Given the description of an element on the screen output the (x, y) to click on. 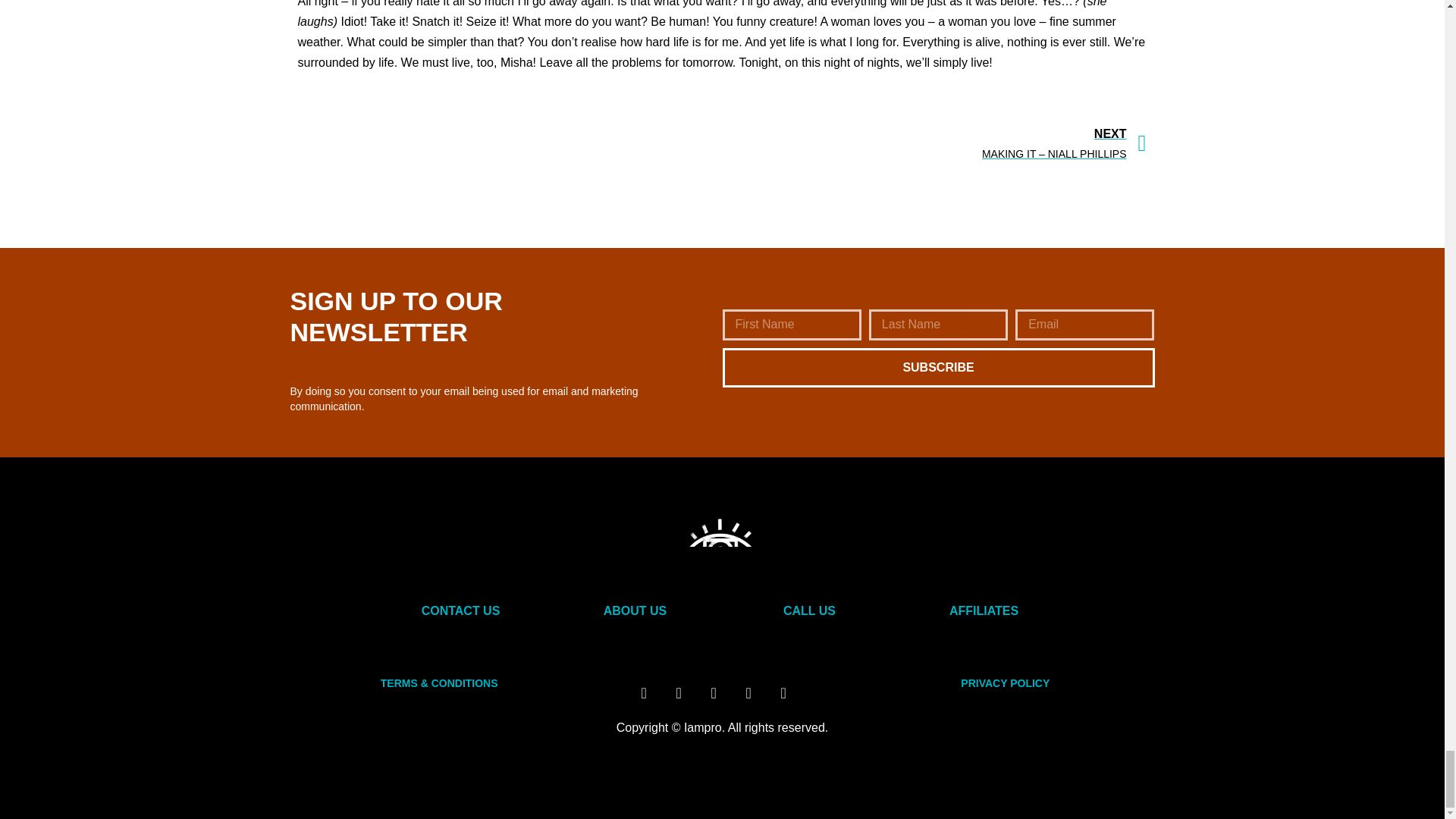
AFFILIATES (983, 610)
CONTACT US (461, 610)
ABOUT US (635, 610)
PRIVACY POLICY (1004, 683)
SUBSCRIBE (938, 367)
CALL US (809, 610)
